Given the description of an element on the screen output the (x, y) to click on. 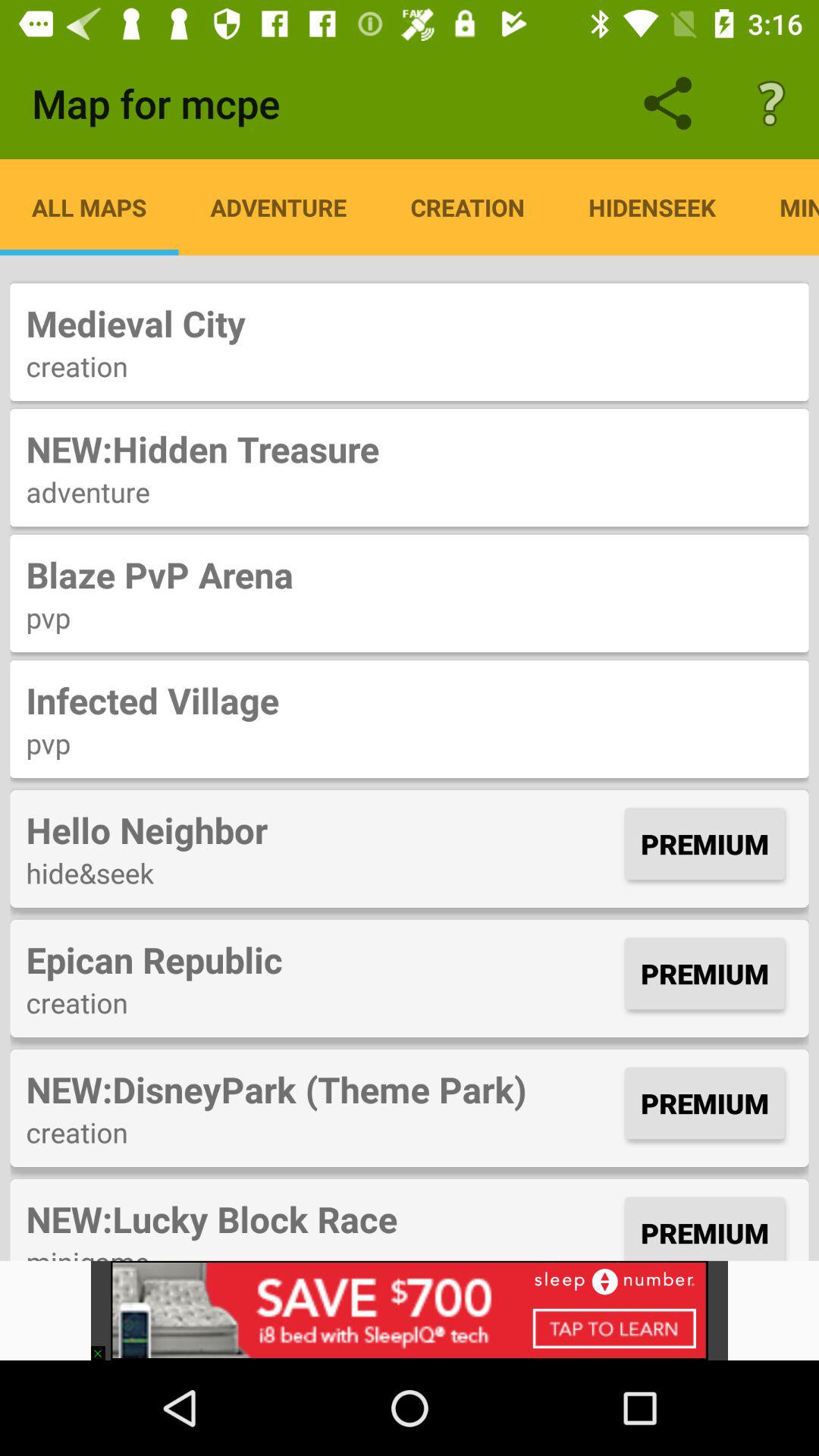
select icon above the hidenseek item (771, 103)
